Given the description of an element on the screen output the (x, y) to click on. 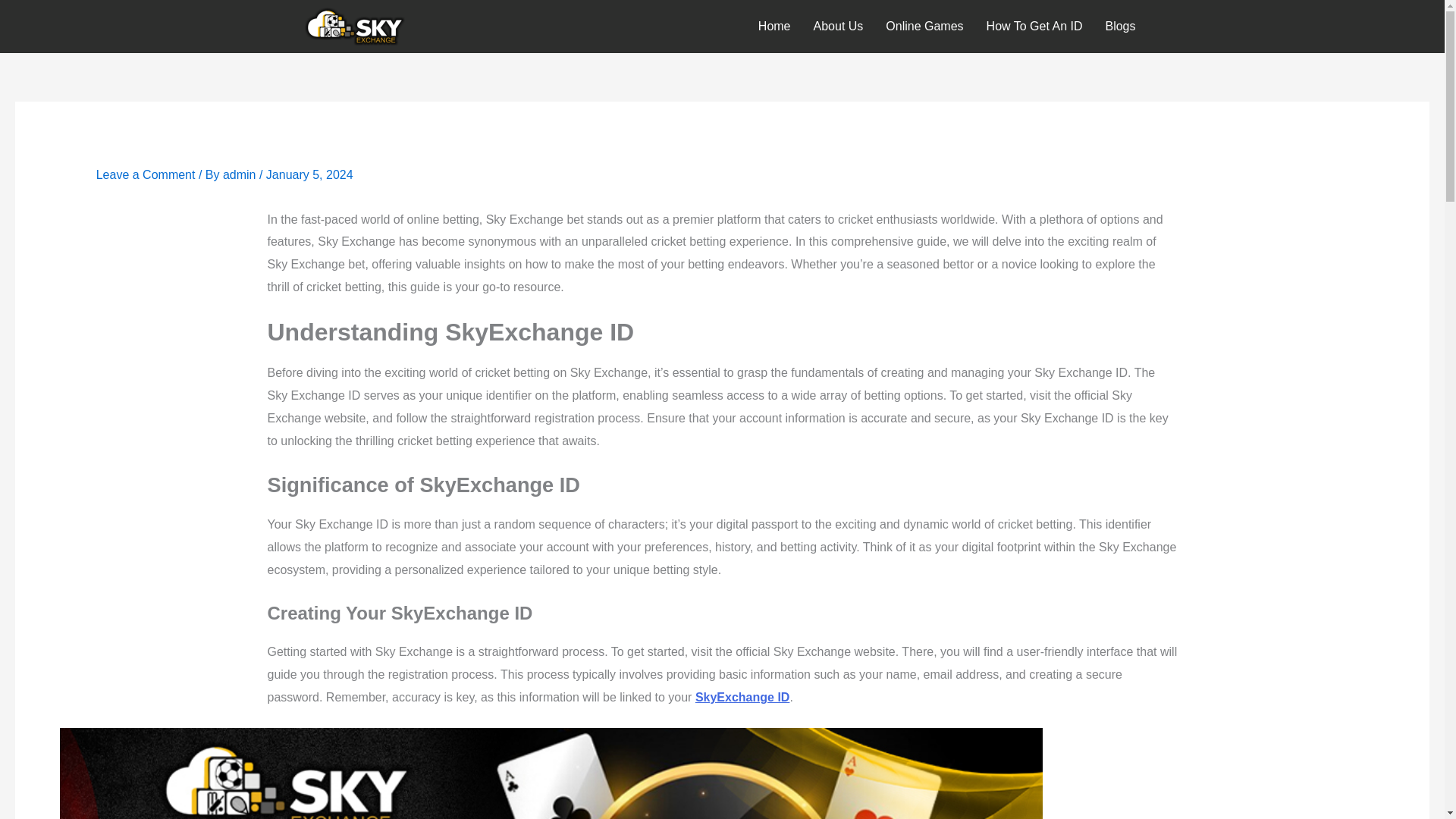
Home (774, 26)
About Us (838, 26)
Online Games (924, 26)
SkyExchange ID (742, 697)
How To Get An ID (1034, 26)
sky-logo-36236 (354, 26)
Blogs (1120, 26)
Leave a Comment (145, 174)
admin (240, 174)
View all posts by admin (240, 174)
